Given the description of an element on the screen output the (x, y) to click on. 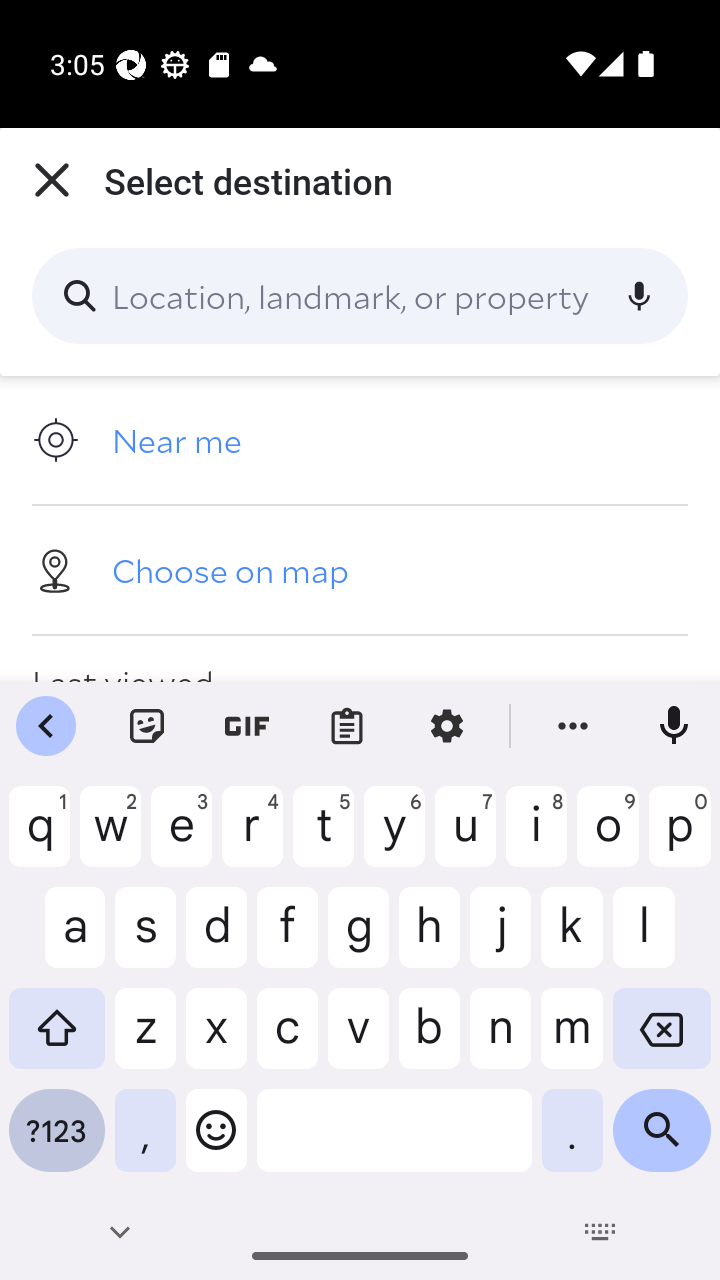
Location, landmark, or property (359, 296)
Near me (360, 440)
Choose on map (360, 569)
